Given the description of an element on the screen output the (x, y) to click on. 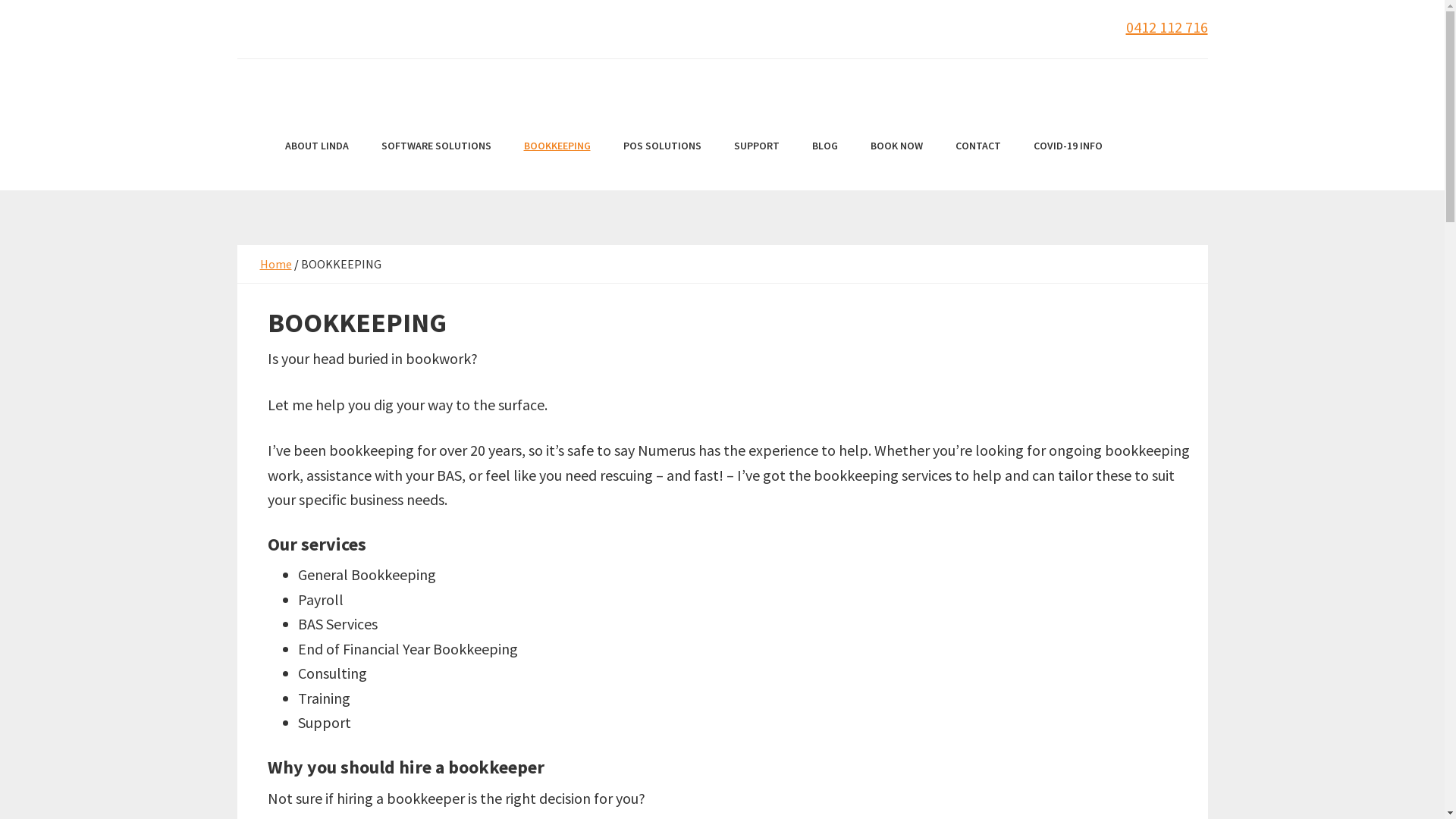
COVID-19 INFO Element type: text (1067, 144)
Skip to primary navigation Element type: text (0, 0)
BOOKKEEPING Element type: text (556, 144)
SUPPORT Element type: text (756, 144)
ABOUT LINDA Element type: text (316, 144)
POS SOLUTIONS Element type: text (662, 144)
BOOK NOW Element type: text (896, 144)
Numerus Business Services Element type: text (721, 69)
CONTACT Element type: text (978, 144)
Home Element type: text (275, 263)
SOFTWARE SOLUTIONS Element type: text (435, 144)
BLOG Element type: text (824, 144)
0412 112 716 Element type: text (1166, 26)
